Given the description of an element on the screen output the (x, y) to click on. 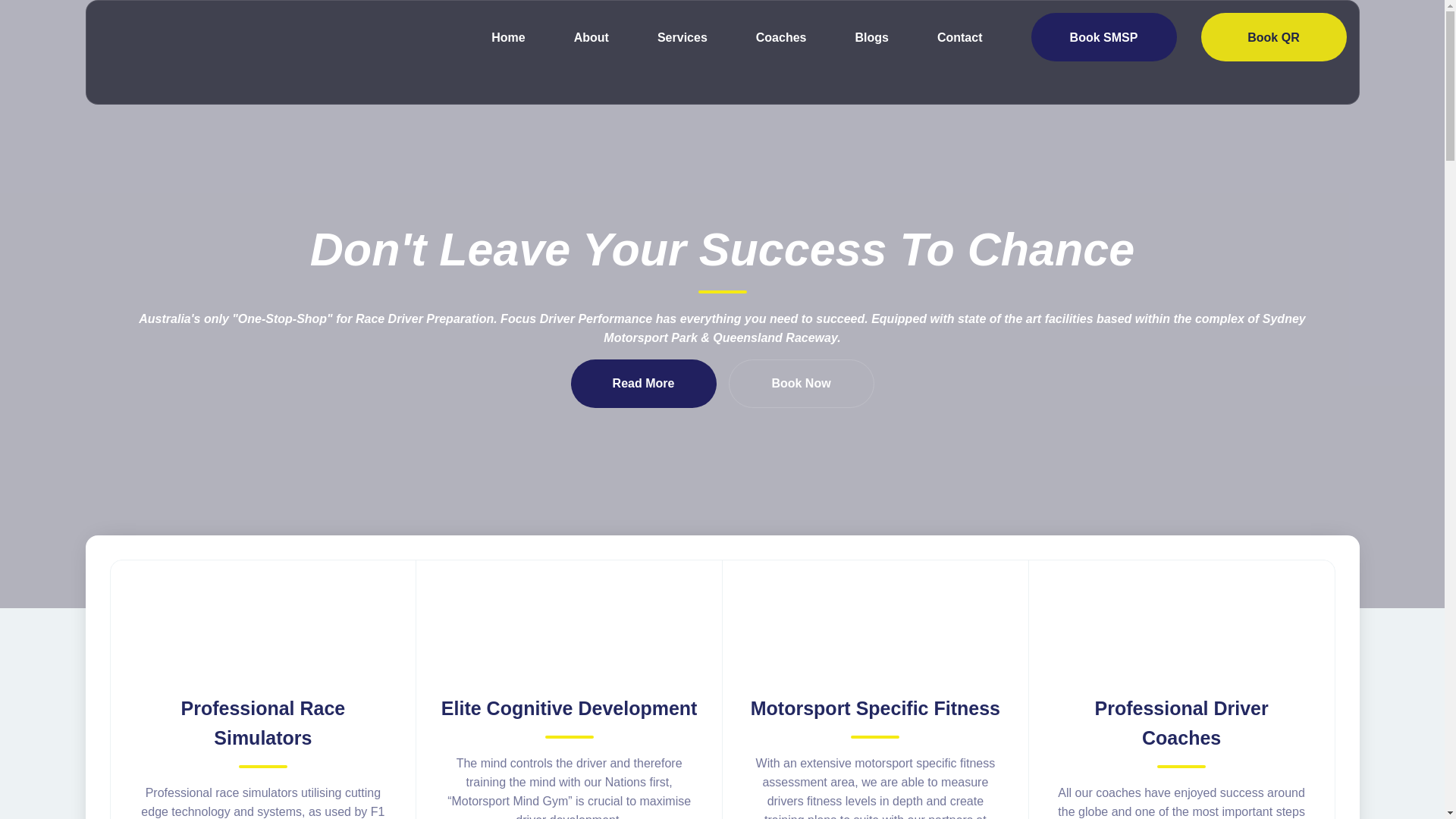
Book SMSP Element type: text (1103, 36)
Home Element type: text (508, 36)
Blogs Element type: text (871, 36)
Book QR Element type: text (1273, 36)
Coaches Element type: text (781, 36)
Read More Element type: text (642, 383)
Services Element type: text (682, 36)
Contact Element type: text (960, 36)
Book Now Element type: text (800, 383)
About Element type: text (591, 36)
